Given the description of an element on the screen output the (x, y) to click on. 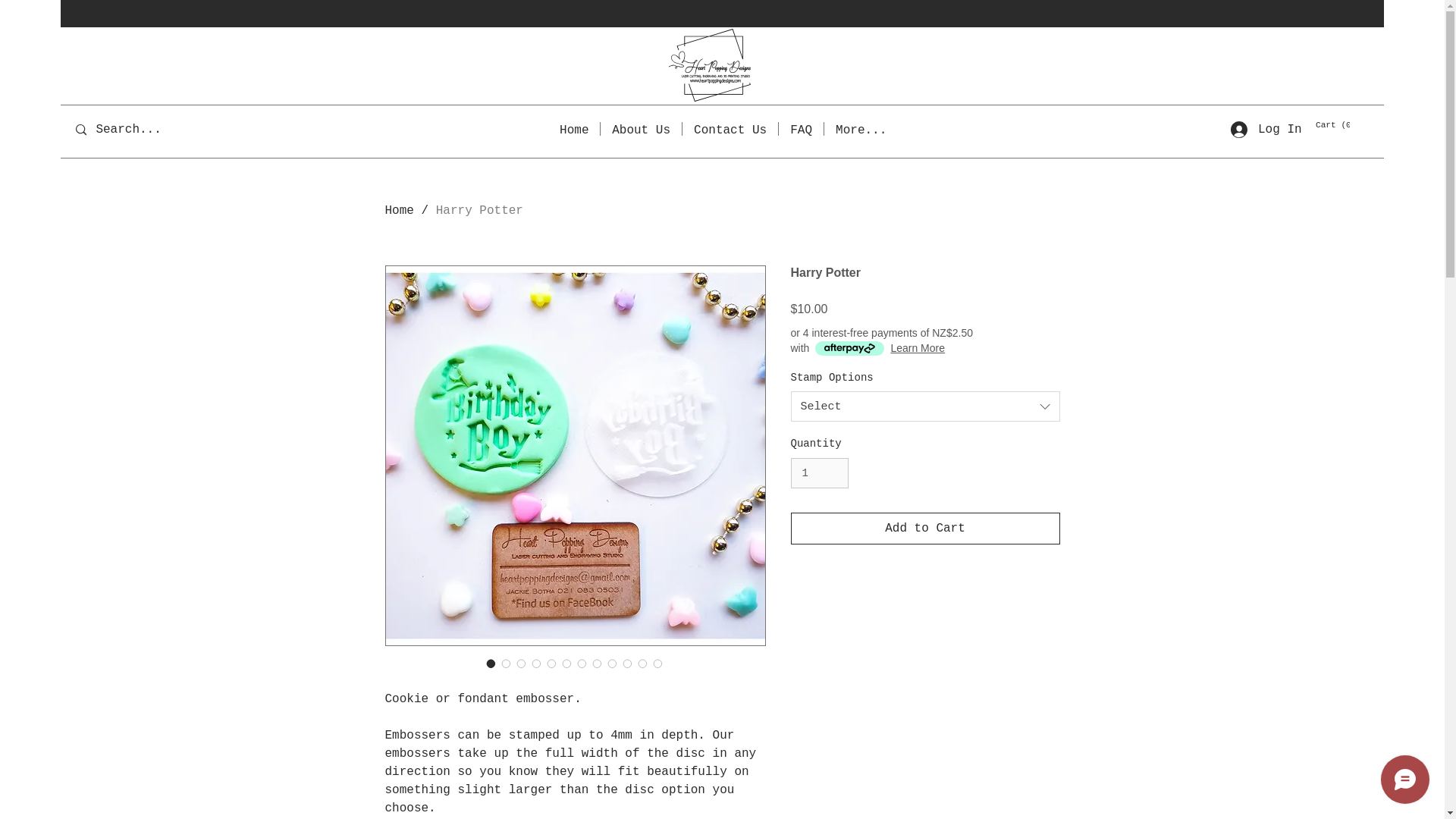
1 (818, 472)
Home (573, 128)
FAQ (801, 128)
Log In (1265, 129)
About Us (640, 128)
Home (399, 210)
Harry Potter (478, 210)
Learn More (916, 347)
Contact Us (729, 128)
